Given the description of an element on the screen output the (x, y) to click on. 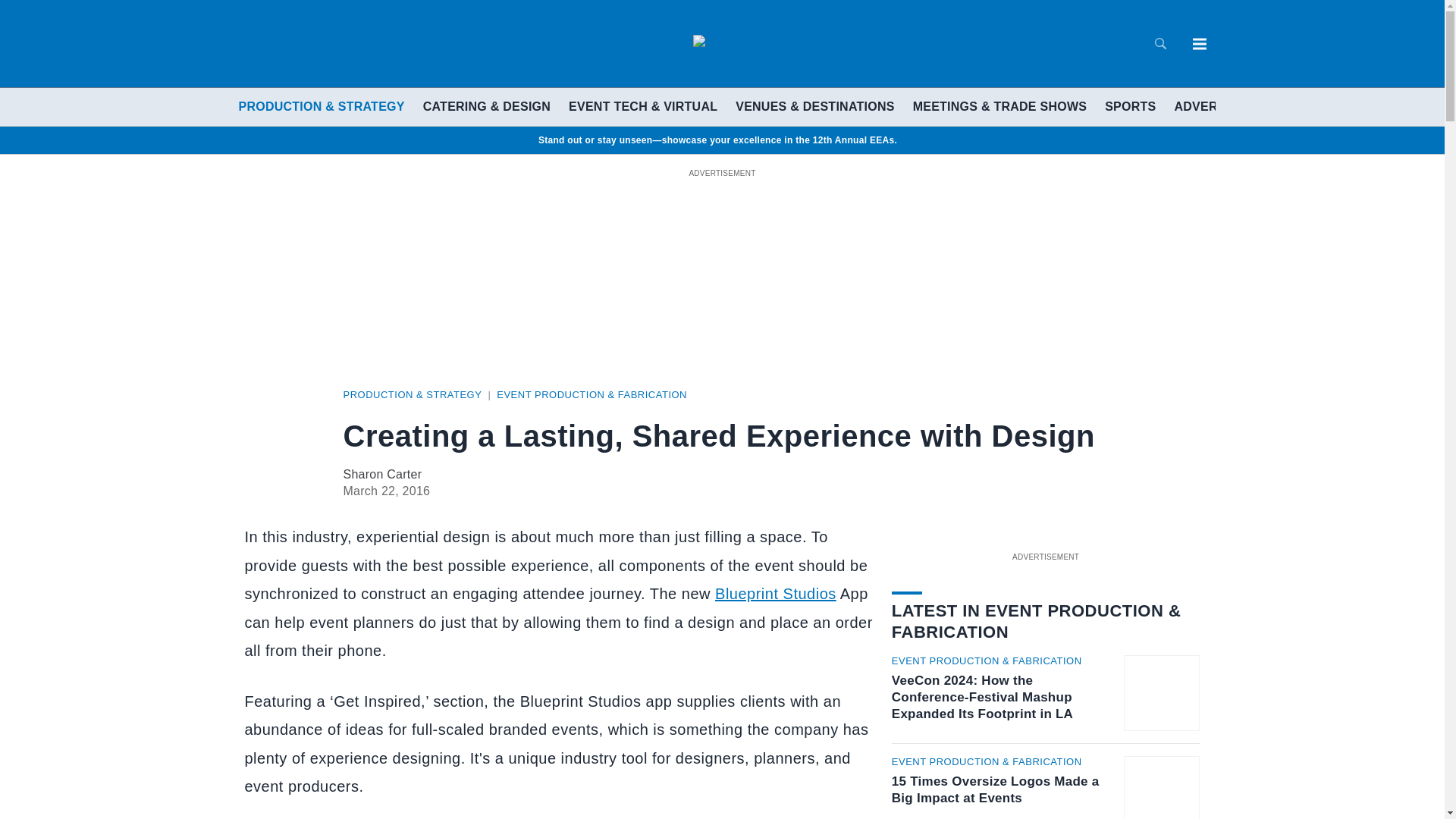
SPORTS (1130, 106)
EVENTS (1288, 106)
ADVERTISE (1208, 106)
